Given the description of an element on the screen output the (x, y) to click on. 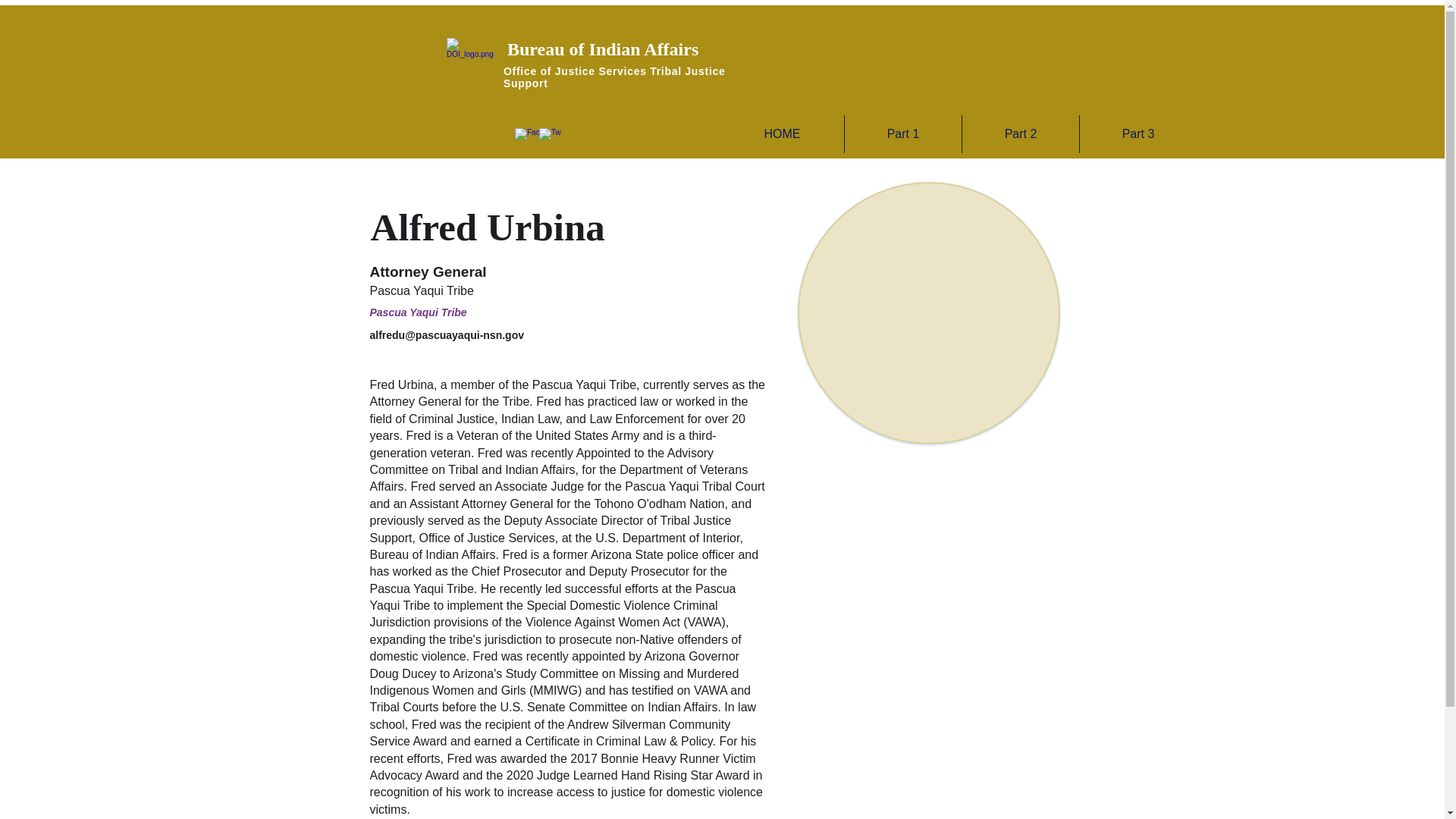
Office of Justice Services Tribal Justice Support (614, 77)
Part 3 (1138, 134)
Urbina.jpg (928, 312)
HOME (782, 134)
Part 2 (1020, 134)
Part 1 (902, 134)
Bureau of Indian Affairs (602, 48)
